Given the description of an element on the screen output the (x, y) to click on. 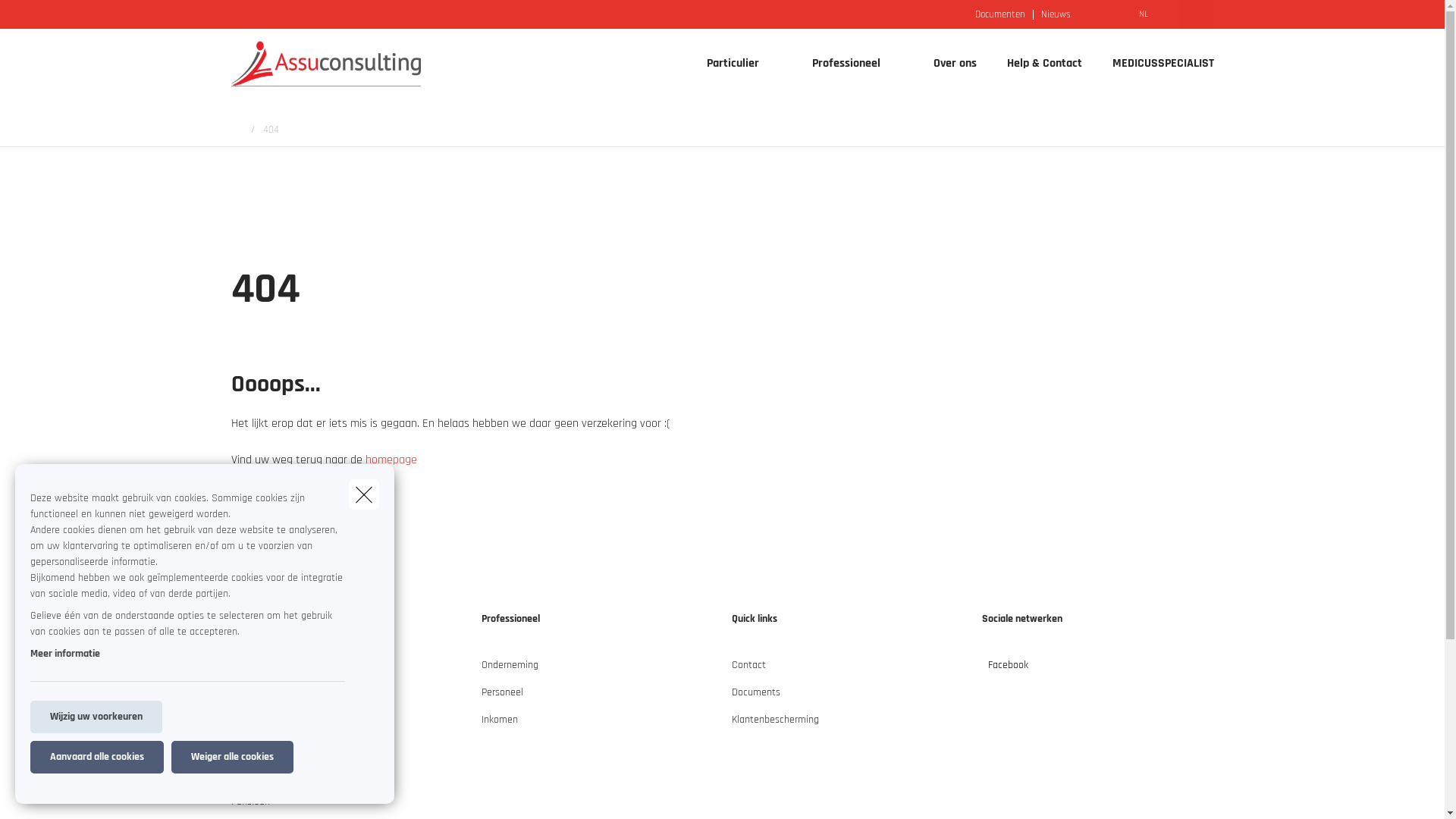
Help & Contact Element type: text (1044, 63)
Inkomen Element type: text (498, 725)
Documents Element type: text (755, 698)
Wijzig uw voorkeuren Element type: text (96, 716)
Documenten Element type: text (999, 13)
Sparen en beleggen Element type: text (273, 779)
Hospitalisatie Element type: text (259, 752)
Weiger alle cookies Element type: text (232, 756)
Meer informatie Element type: text (65, 653)
Professioneel Element type: text (839, 63)
Zoeken Element type: text (37, 18)
Mobiliteit Element type: text (250, 670)
Woning Element type: text (246, 698)
Klantenbescherming Element type: text (774, 725)
Aanvaard alle cookies Element type: text (96, 756)
homepage Element type: text (391, 459)
Personeel Element type: text (501, 698)
Onderneming Element type: text (508, 670)
Over ons Element type: text (954, 63)
Gezin en rechtsbijstand Element type: text (280, 725)
Nieuws Element type: text (1055, 13)
Contact Element type: text (748, 670)
Particulier Element type: text (726, 63)
Facebook Element type: text (1004, 670)
MEDICUSSPECIALIST Element type: text (1154, 63)
